Given the description of an element on the screen output the (x, y) to click on. 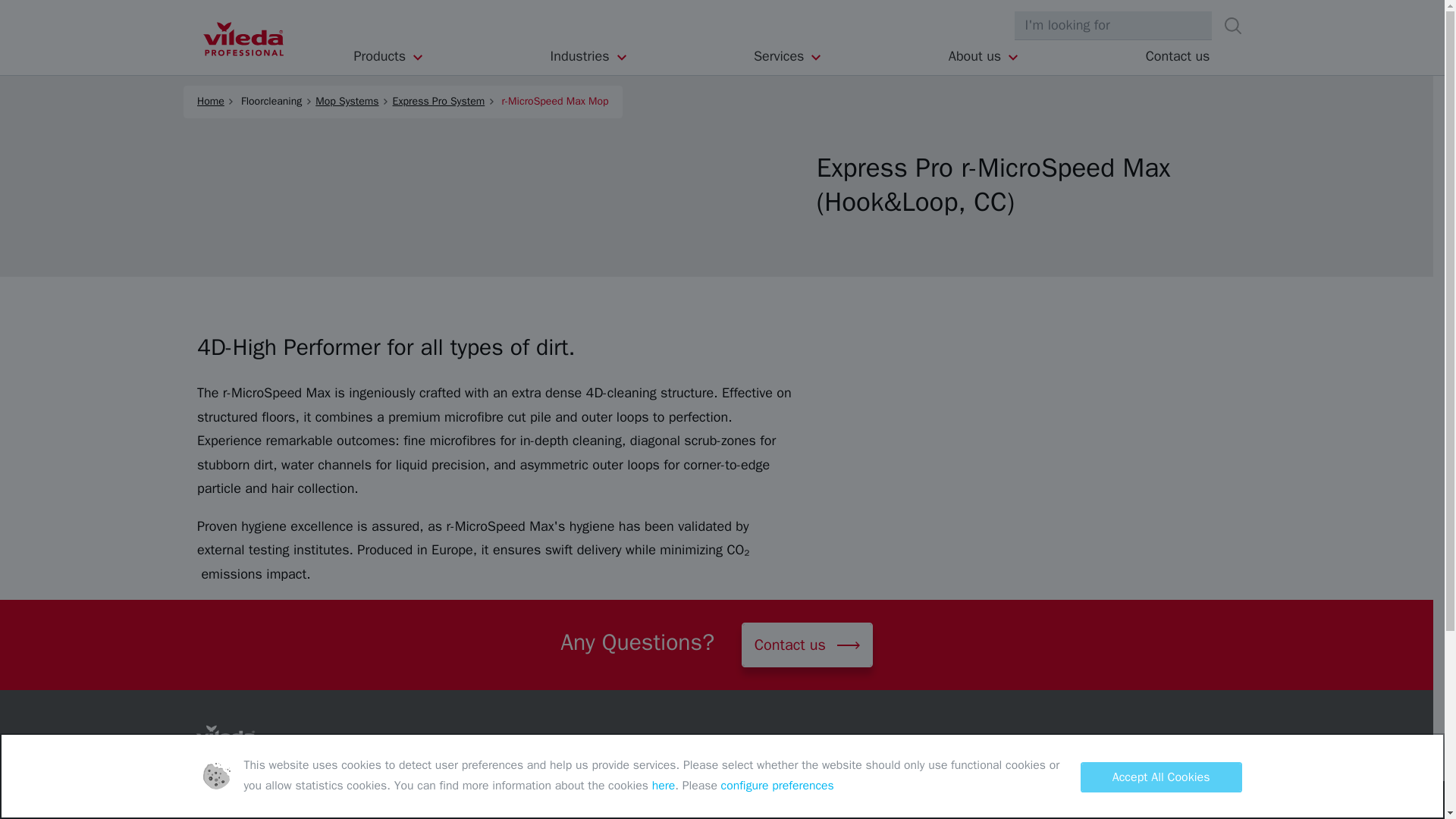
Services (788, 56)
Vileda Professional (243, 39)
Products (389, 56)
About us (984, 56)
Industries (589, 56)
